Given the description of an element on the screen output the (x, y) to click on. 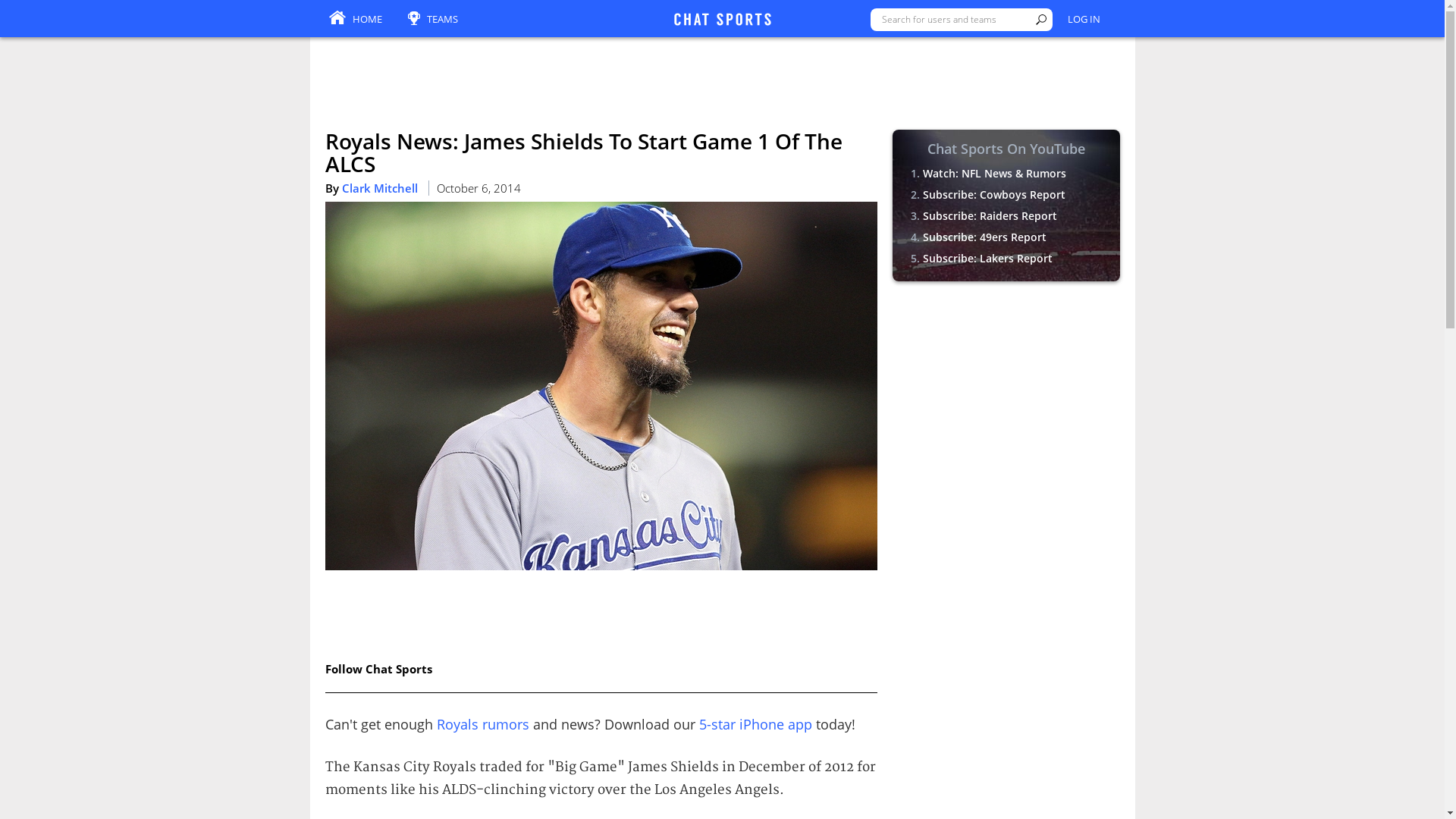
Clark Mitchell (378, 187)
TEAMS (432, 19)
Subscribe: Raiders Report (989, 215)
HOME (355, 19)
Subscribe: Cowboys Report (992, 194)
Subscribe: 49ers Report (983, 237)
3rd party ad content (600, 612)
3rd party ad content (1005, 391)
CHATSPORTS (721, 19)
3rd party ad content (721, 72)
